Given the description of an element on the screen output the (x, y) to click on. 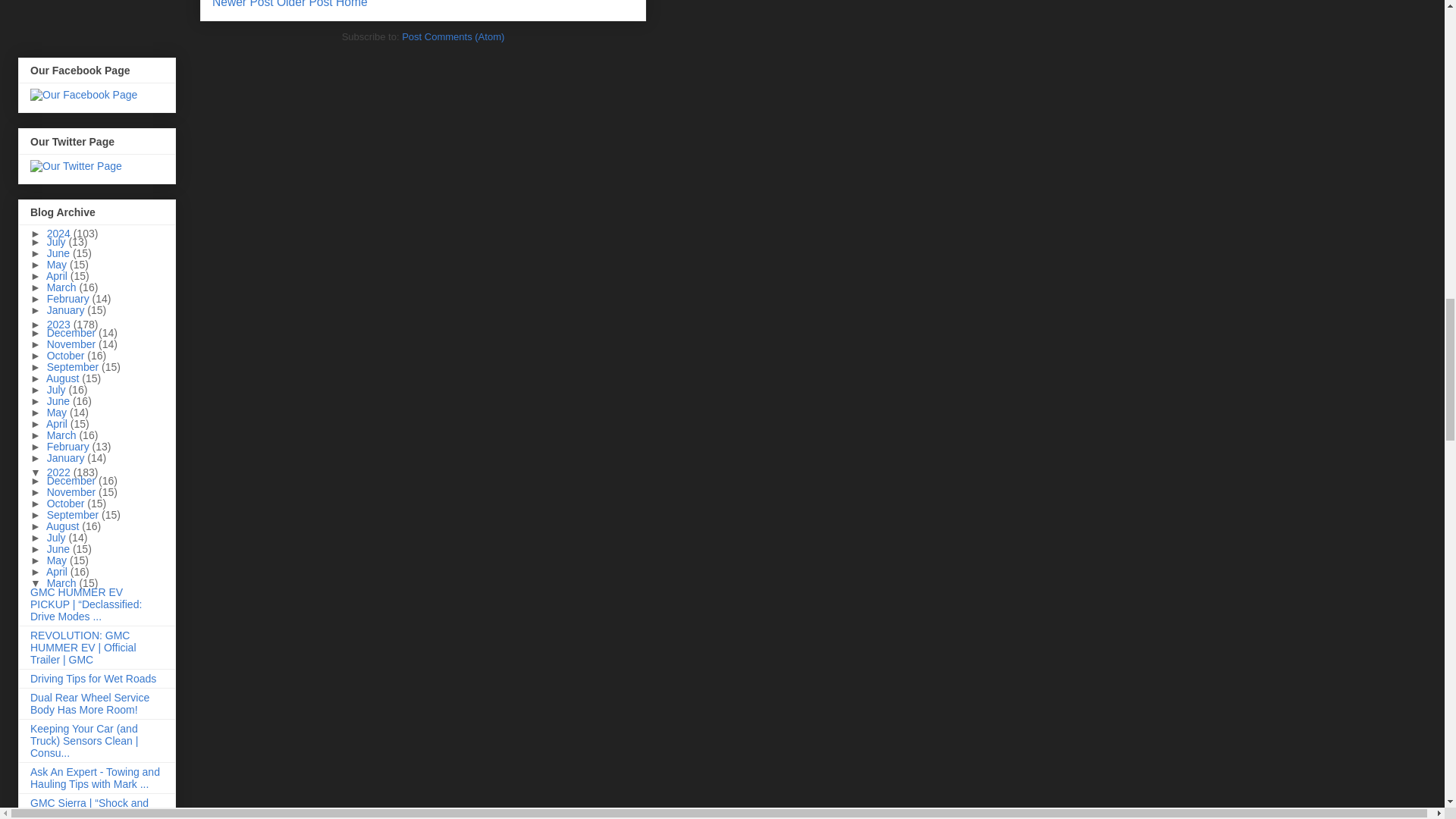
July (57, 241)
2023 (60, 324)
Newer Post (242, 4)
February (69, 298)
June (59, 253)
Older Post (304, 4)
Older Post (304, 4)
2024 (60, 233)
Newer Post (242, 4)
March (63, 287)
April (57, 275)
May (57, 264)
January (66, 309)
Home (352, 4)
